Given the description of an element on the screen output the (x, y) to click on. 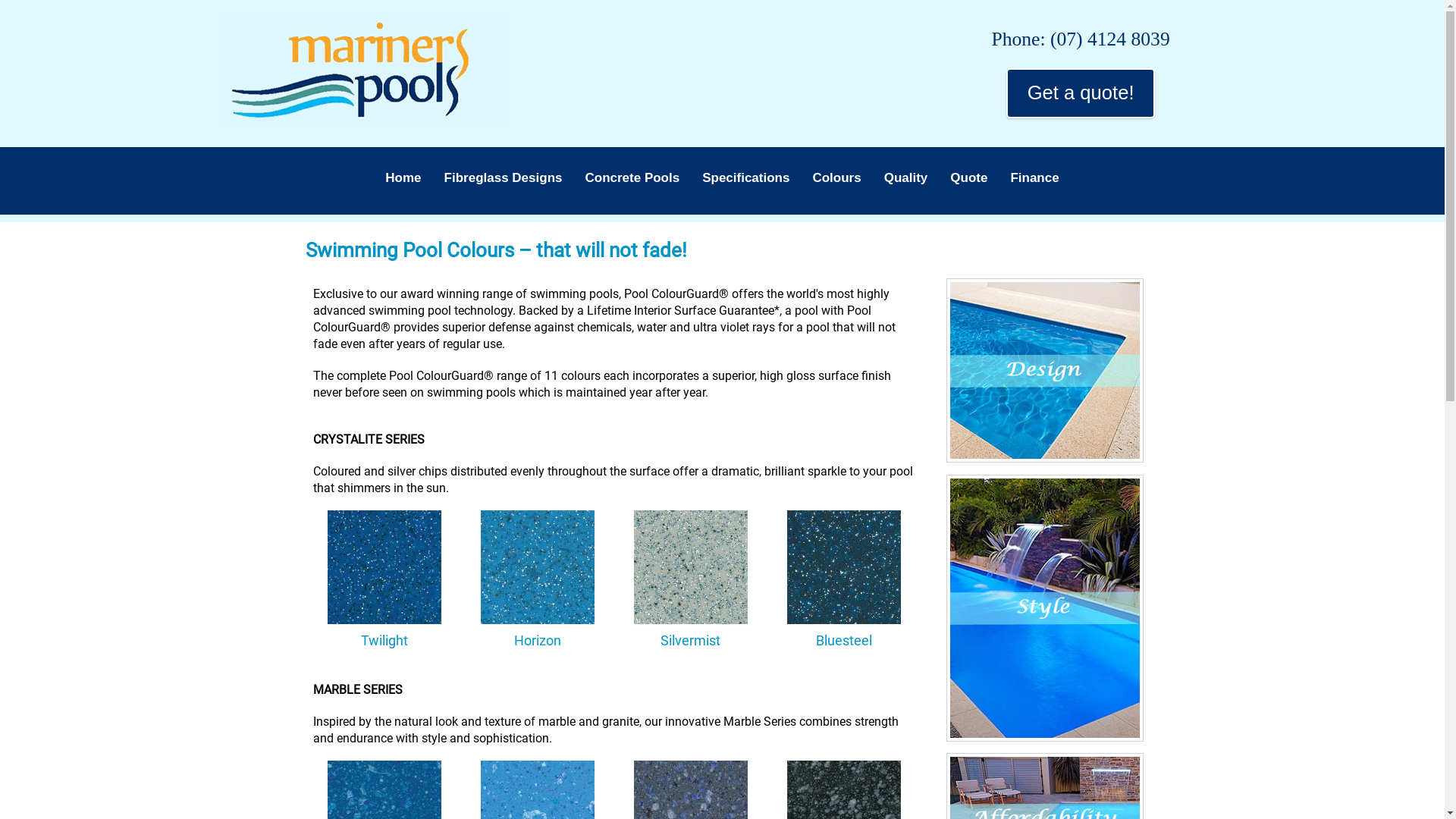
Concrete Pools Element type: text (632, 178)
Quality Element type: text (905, 178)
Quote Element type: text (968, 178)
Mariners Pools Element type: hover (362, 71)
Twilight Element type: hover (384, 567)
Specifications Element type: text (745, 178)
Silvermist Element type: hover (690, 567)
Colours Element type: text (836, 178)
Bluesteel Element type: hover (843, 567)
Milan pool from Mariners Pools Element type: hover (1044, 370)
Home Element type: text (402, 178)
Fibreglass Designs Element type: text (503, 178)
Finance Element type: text (1034, 178)
Vallence pool Element type: hover (1044, 607)
Horizon Element type: hover (537, 567)
Get a quote! Element type: text (1080, 92)
